Given the description of an element on the screen output the (x, y) to click on. 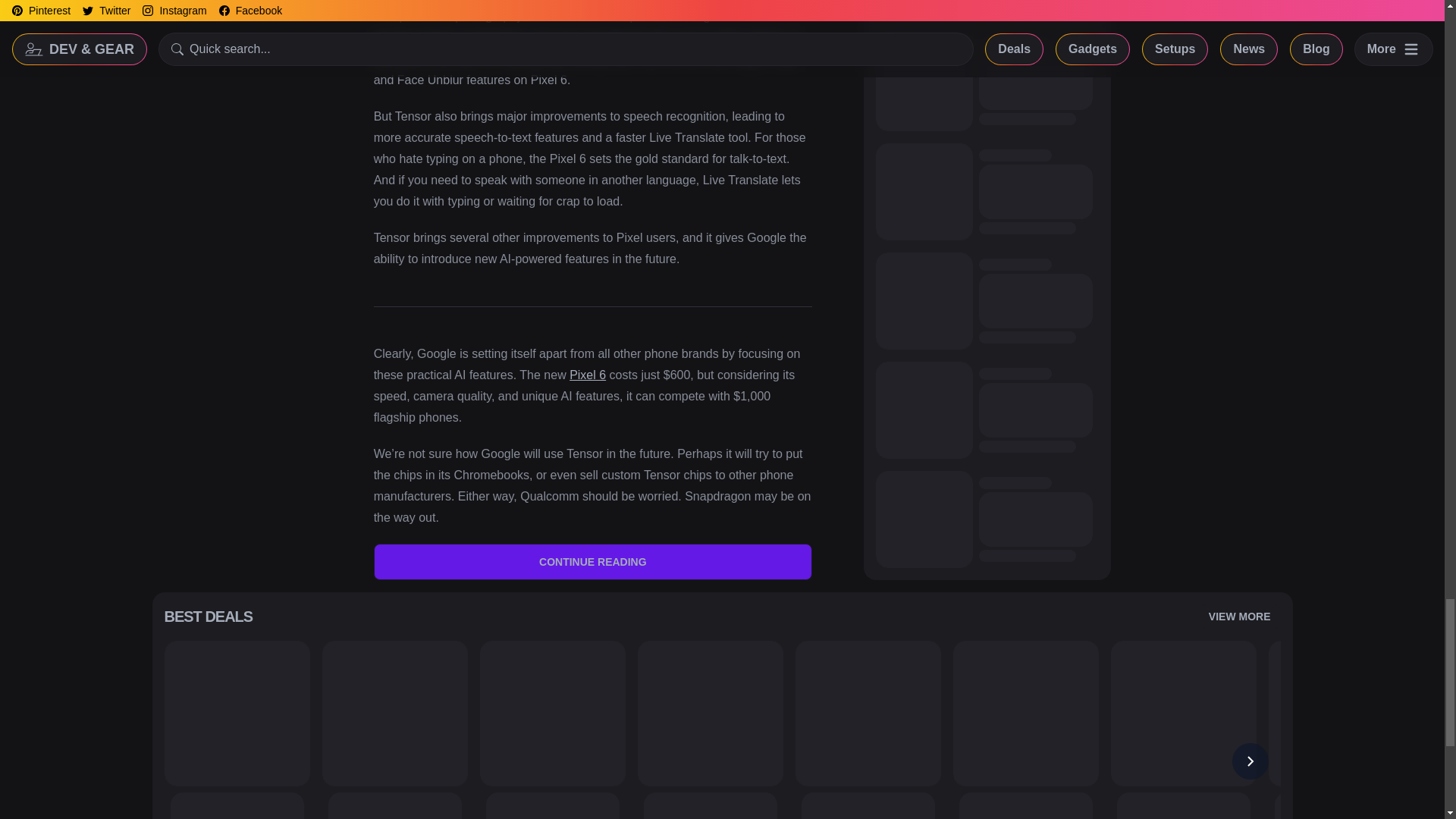
Pixel 6 (587, 374)
CONTINUE READING (593, 561)
